Given the description of an element on the screen output the (x, y) to click on. 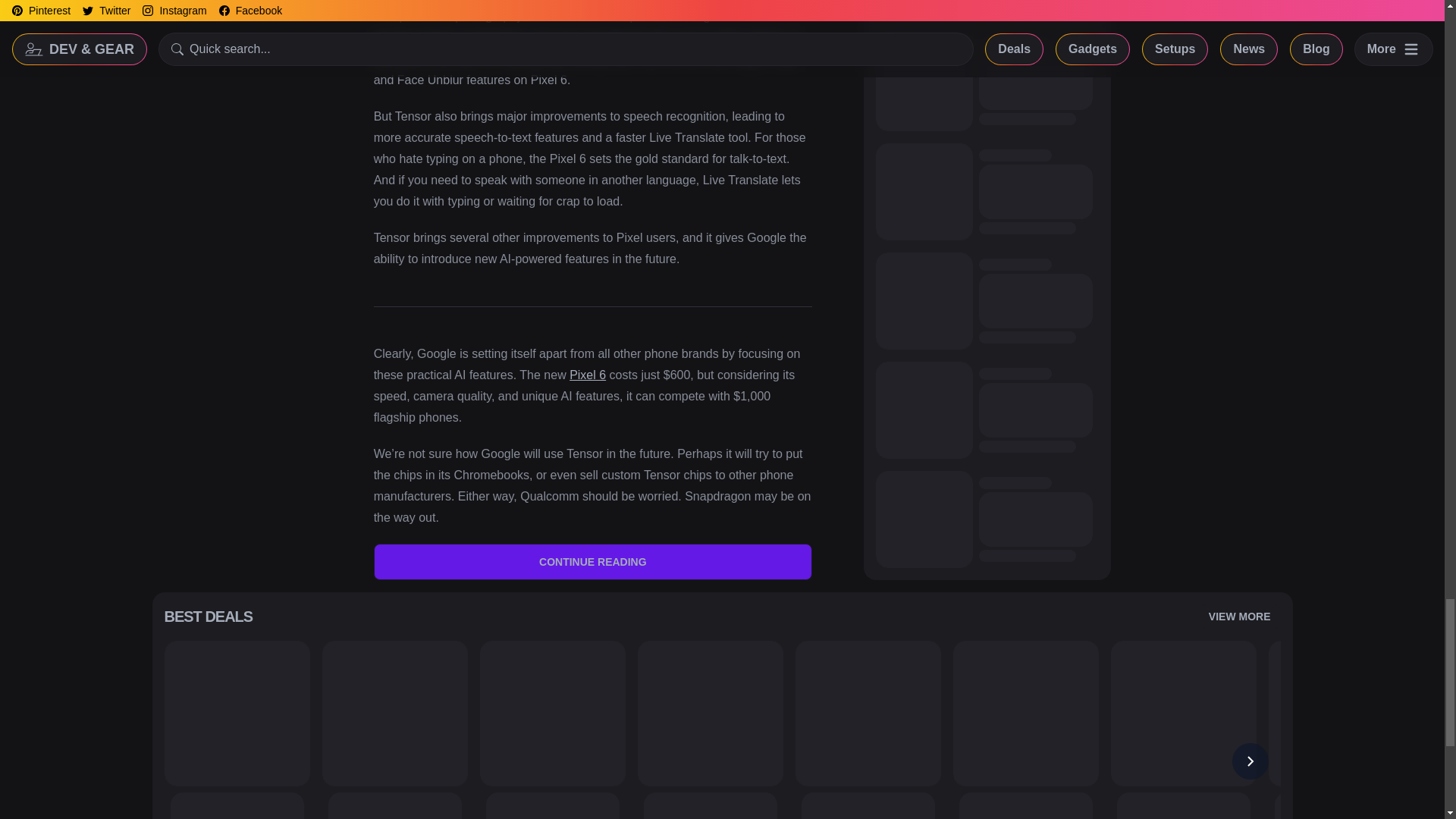
Pixel 6 (587, 374)
CONTINUE READING (593, 561)
